Given the description of an element on the screen output the (x, y) to click on. 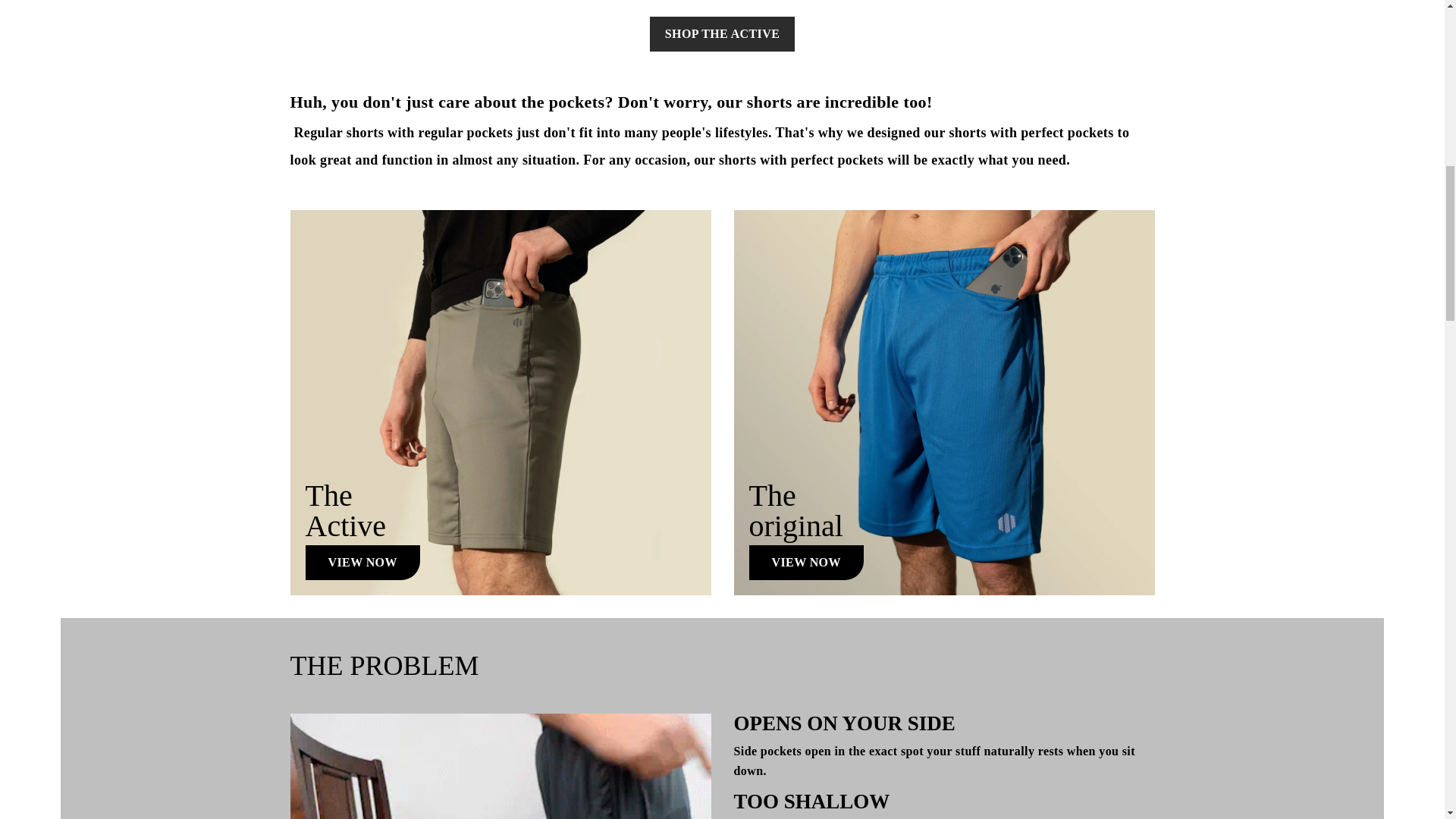
VIEW NOW (806, 562)
Why do basketball shorts pockets suck (499, 766)
SHOP THE ACTIVE (721, 33)
VIEW NOW (361, 562)
